Given the description of an element on the screen output the (x, y) to click on. 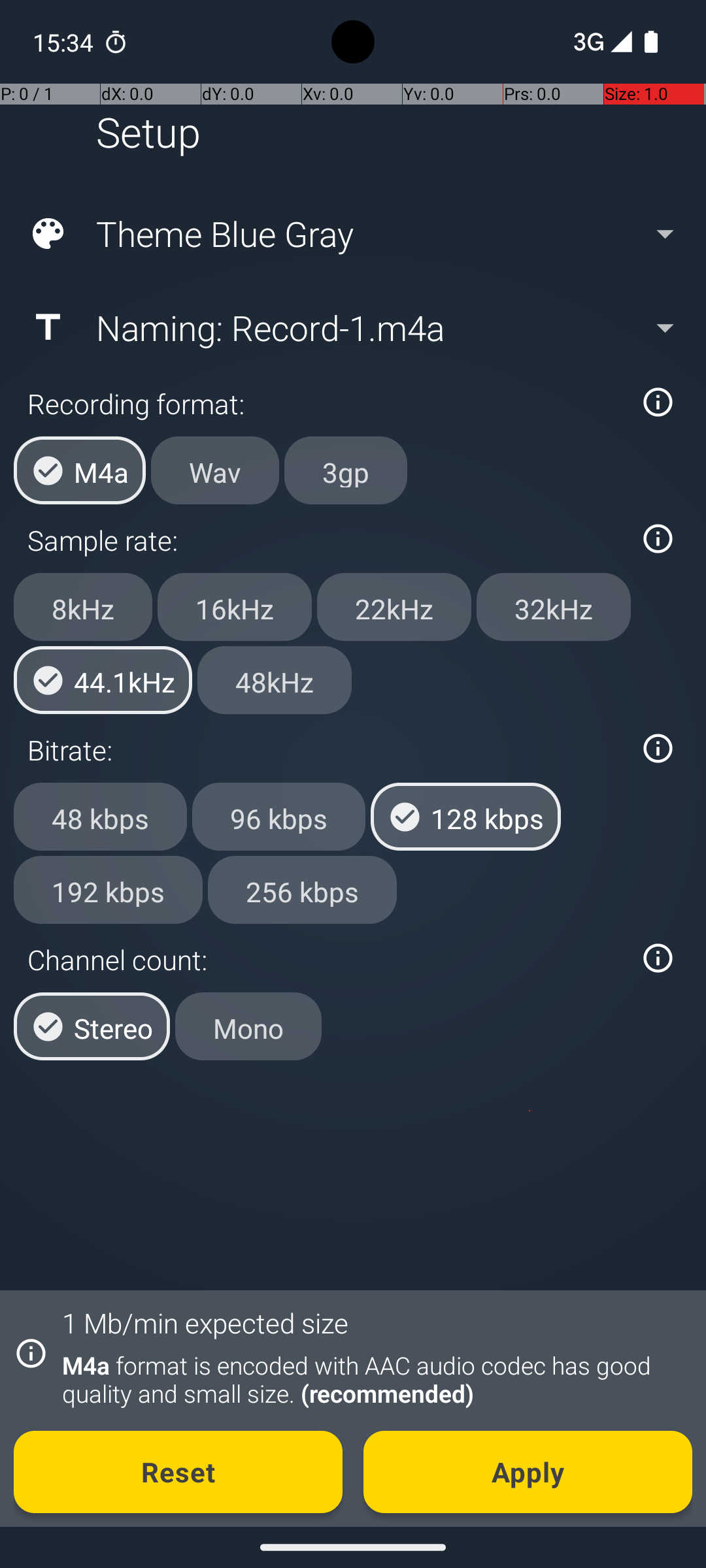
3G Element type: android.widget.ImageView (587, 41)
